Given the description of an element on the screen output the (x, y) to click on. 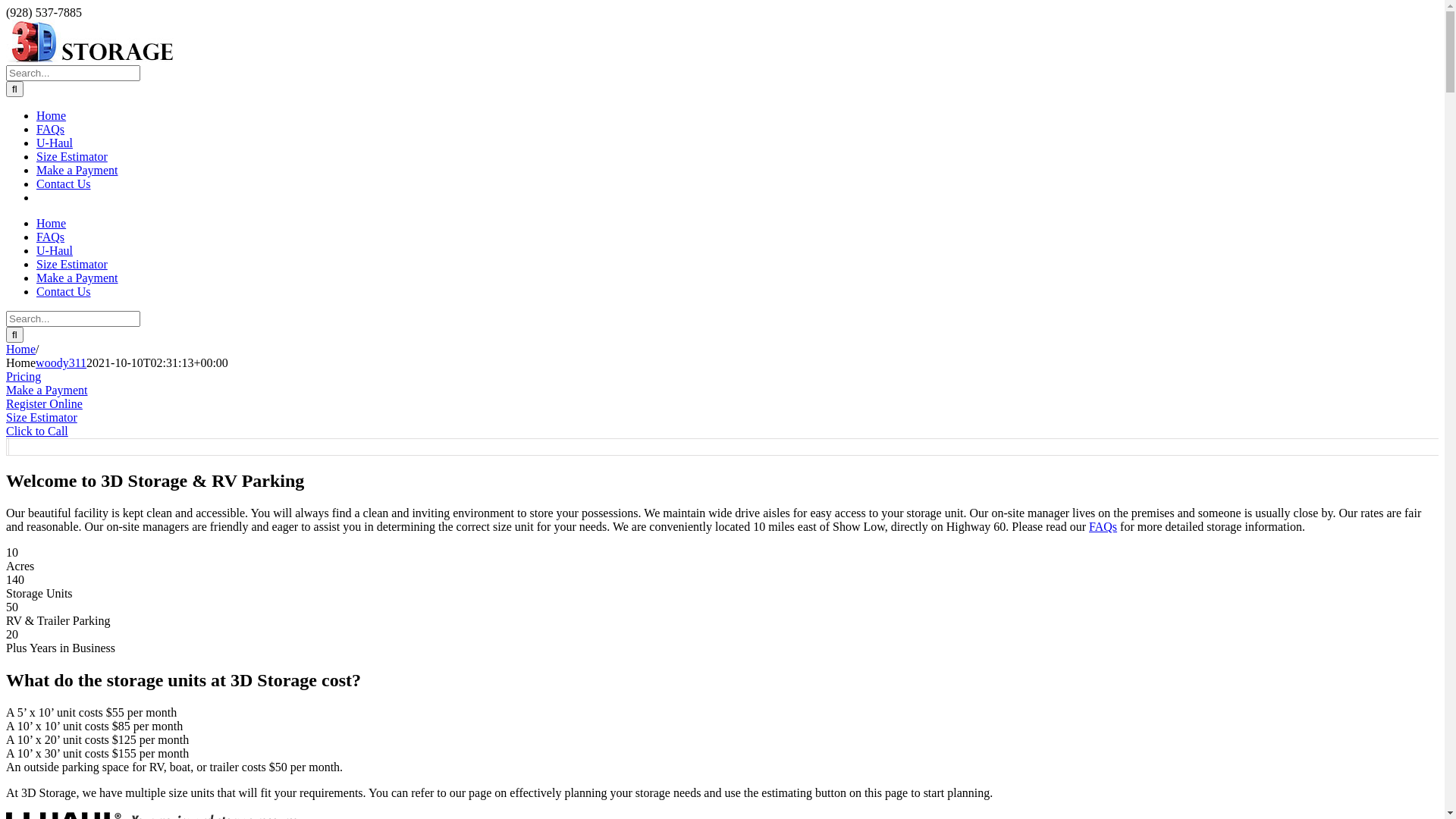
FAQs Element type: text (50, 236)
Size Estimator Element type: text (71, 156)
Home Element type: text (20, 348)
Make a Payment Element type: text (77, 169)
Make a Payment Element type: text (77, 277)
Click to Call Element type: text (37, 430)
U-Haul Element type: text (54, 250)
Register Online Element type: text (44, 403)
Skip to content Element type: text (5, 5)
Home Element type: text (50, 115)
Size Estimator Element type: text (41, 417)
U-Haul Element type: text (54, 142)
woody311 Element type: text (60, 362)
Size Estimator Element type: text (71, 263)
Contact Us Element type: text (63, 291)
FAQs Element type: text (1102, 526)
Home Element type: text (50, 222)
Contact Us Element type: text (63, 183)
FAQs Element type: text (50, 128)
Pricing Element type: text (23, 376)
Make a Payment Element type: text (46, 389)
